Given the description of an element on the screen output the (x, y) to click on. 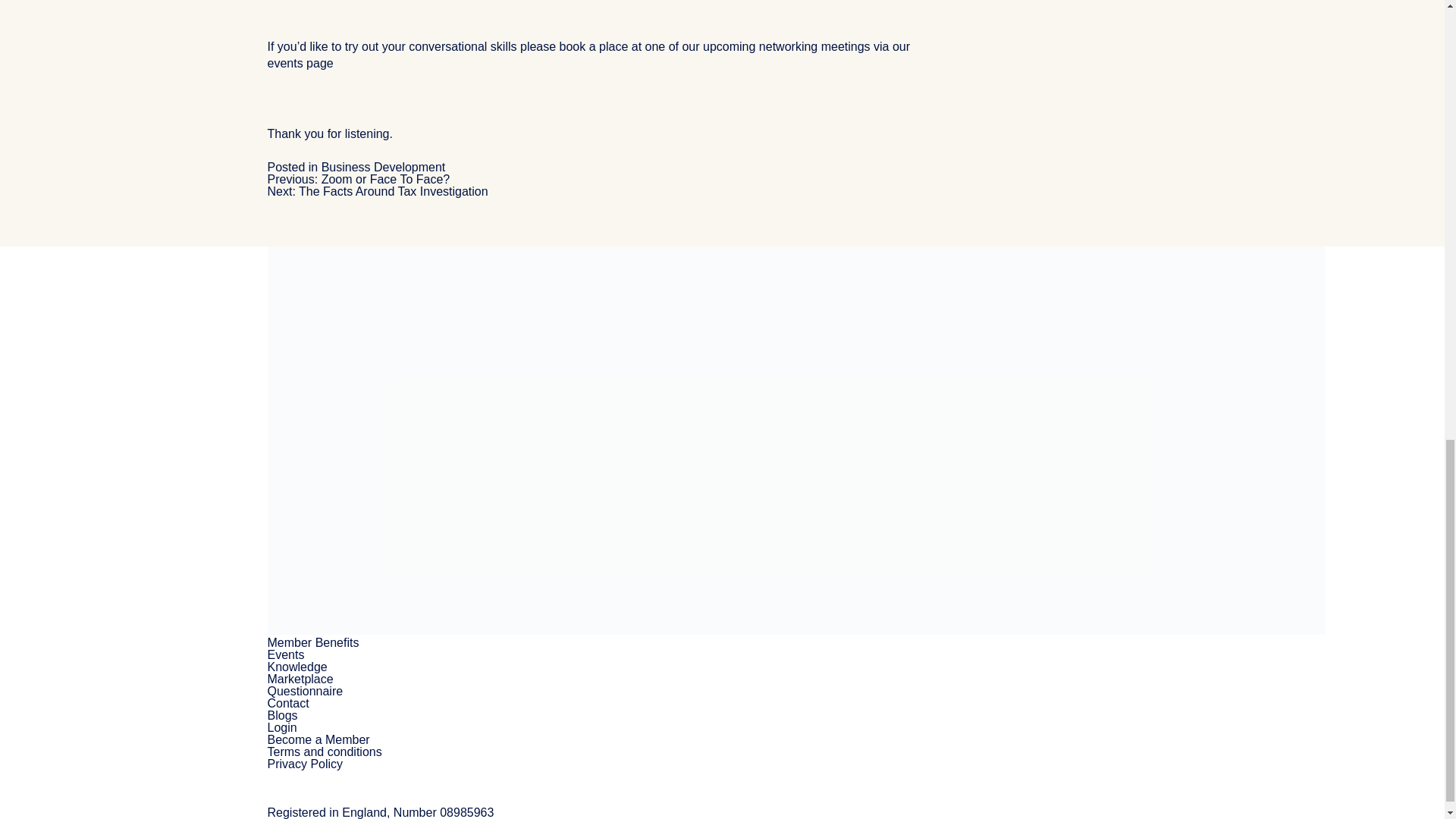
Business Development (383, 166)
